Given the description of an element on the screen output the (x, y) to click on. 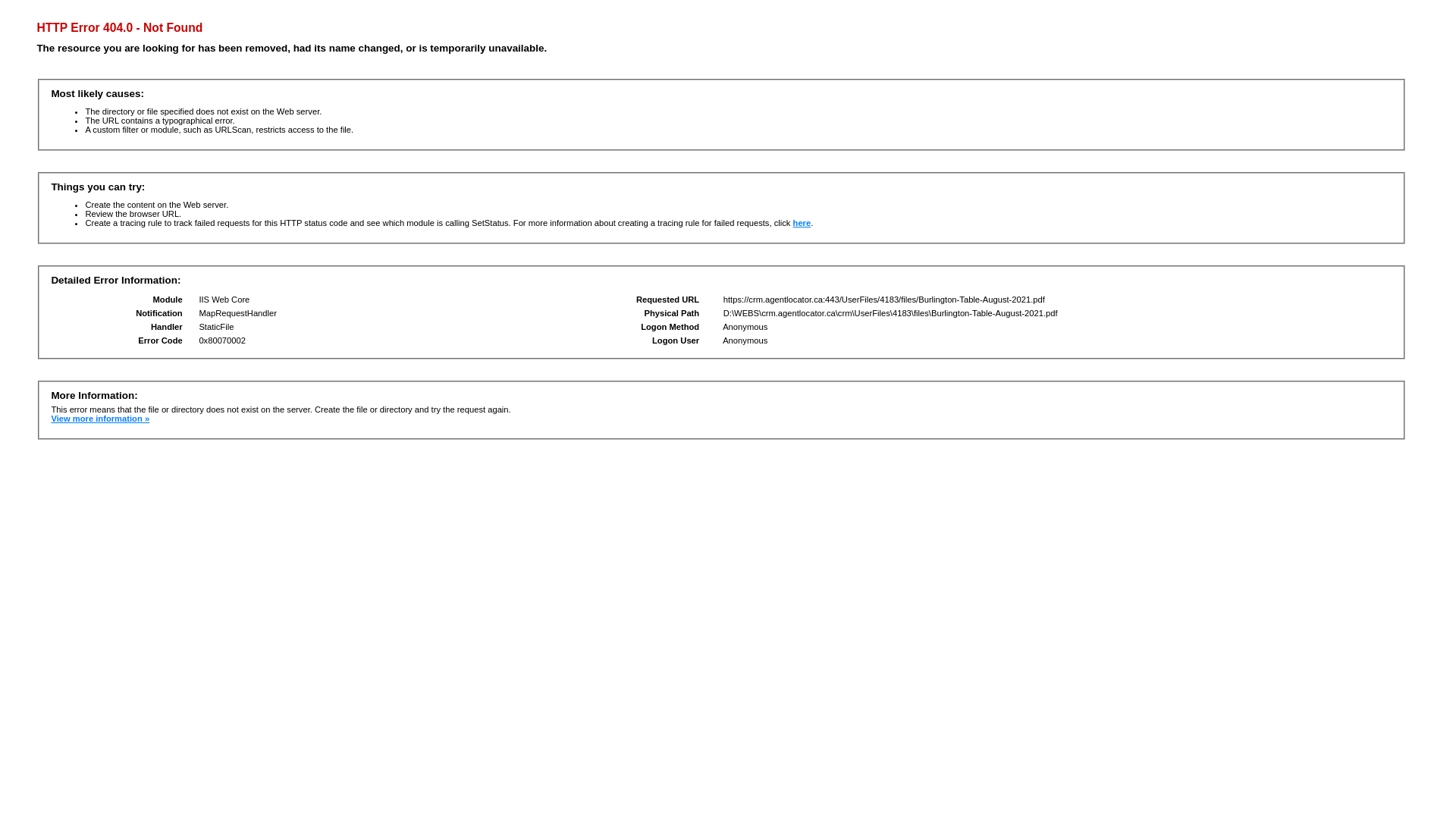
here Element type: text (802, 222)
